Given the description of an element on the screen output the (x, y) to click on. 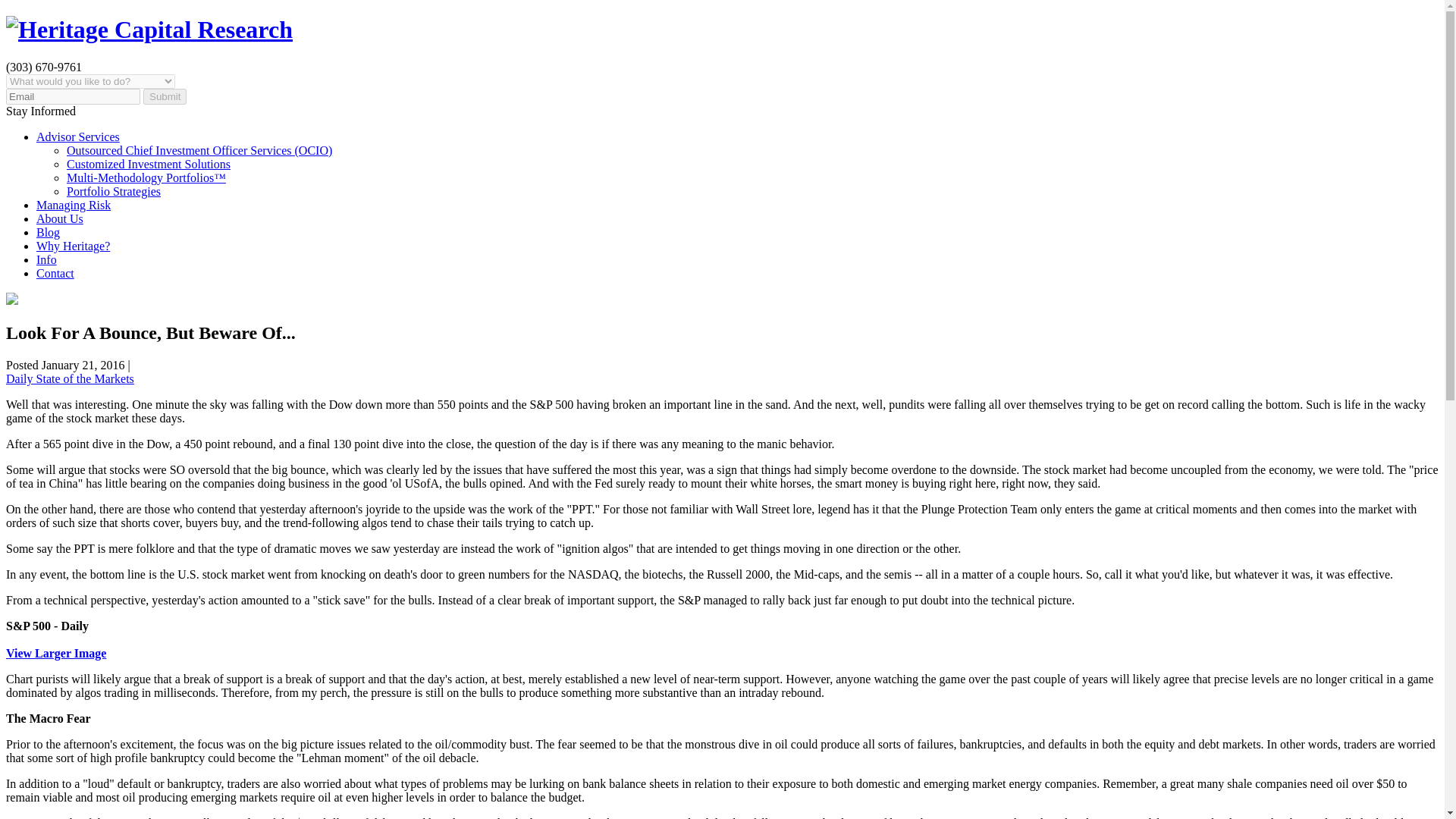
Contact (55, 273)
Stay Informed (40, 110)
Customized Investment Solutions (148, 164)
About Us (59, 218)
Submit (164, 96)
Info (46, 259)
Why Heritage? (73, 245)
Blog (47, 232)
Daily State of the Markets (69, 378)
Submit (164, 96)
